Given the description of an element on the screen output the (x, y) to click on. 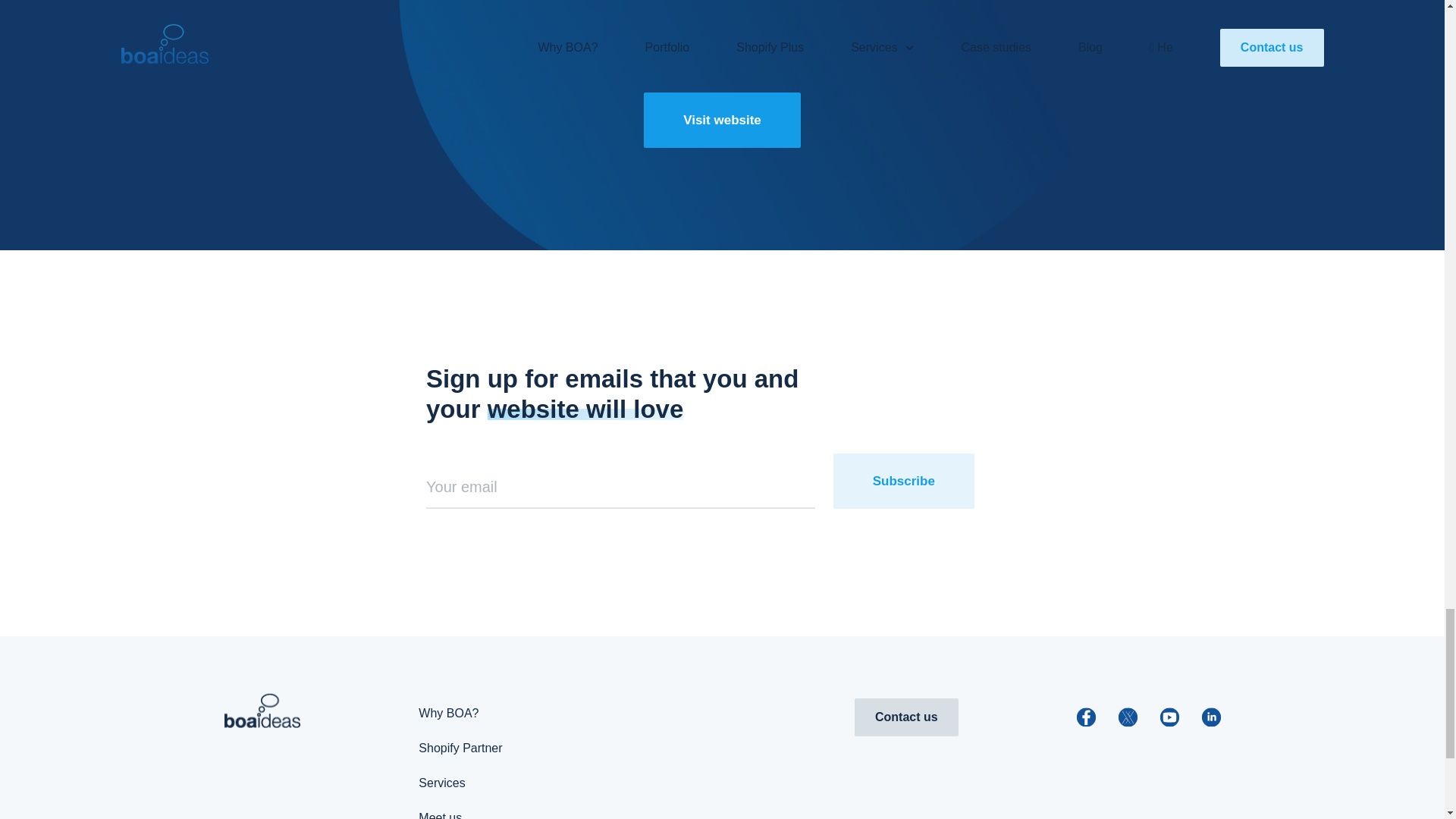
Visit website (721, 120)
Shopify Partner (460, 748)
Subscribe (903, 480)
Why BOA? (449, 712)
Meet us (440, 815)
Services (441, 782)
Contact us (906, 717)
